Given the description of an element on the screen output the (x, y) to click on. 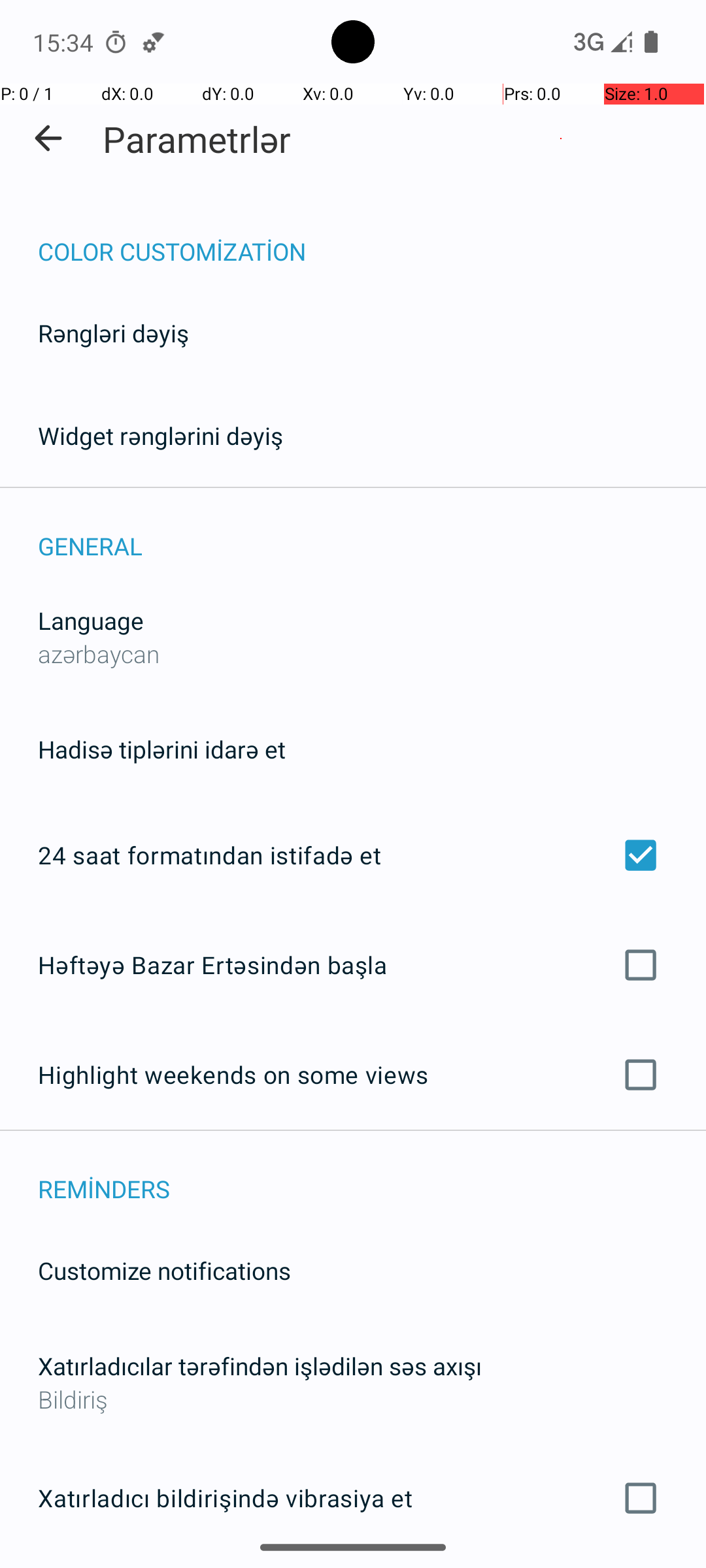
COLOR CUSTOMİZATİON Element type: android.widget.TextView (371, 237)
REMİNDERS Element type: android.widget.TextView (371, 1174)
Rəngləri dəyiş Element type: android.widget.TextView (112, 332)
Widget rənglərini dəyiş Element type: android.widget.TextView (160, 435)
azərbaycan Element type: android.widget.TextView (98, 653)
Hadisə tiplərini idarə et Element type: android.widget.TextView (161, 748)
24 saat formatından istifadə et Element type: android.widget.CheckBox (352, 855)
Həftəyə Bazar Ertəsindən başla Element type: android.widget.CheckBox (352, 964)
Xatırladıcılar tərəfindən işlədilən səs axışı Element type: android.widget.TextView (259, 1365)
Bildiriş Element type: android.widget.TextView (352, 1398)
Xatırladıcı bildirişində vibrasiya et Element type: android.widget.CheckBox (352, 1497)
Buraxılana qədər xatırladıcıları təkrarla Element type: android.widget.CheckBox (352, 1567)
